Given the description of an element on the screen output the (x, y) to click on. 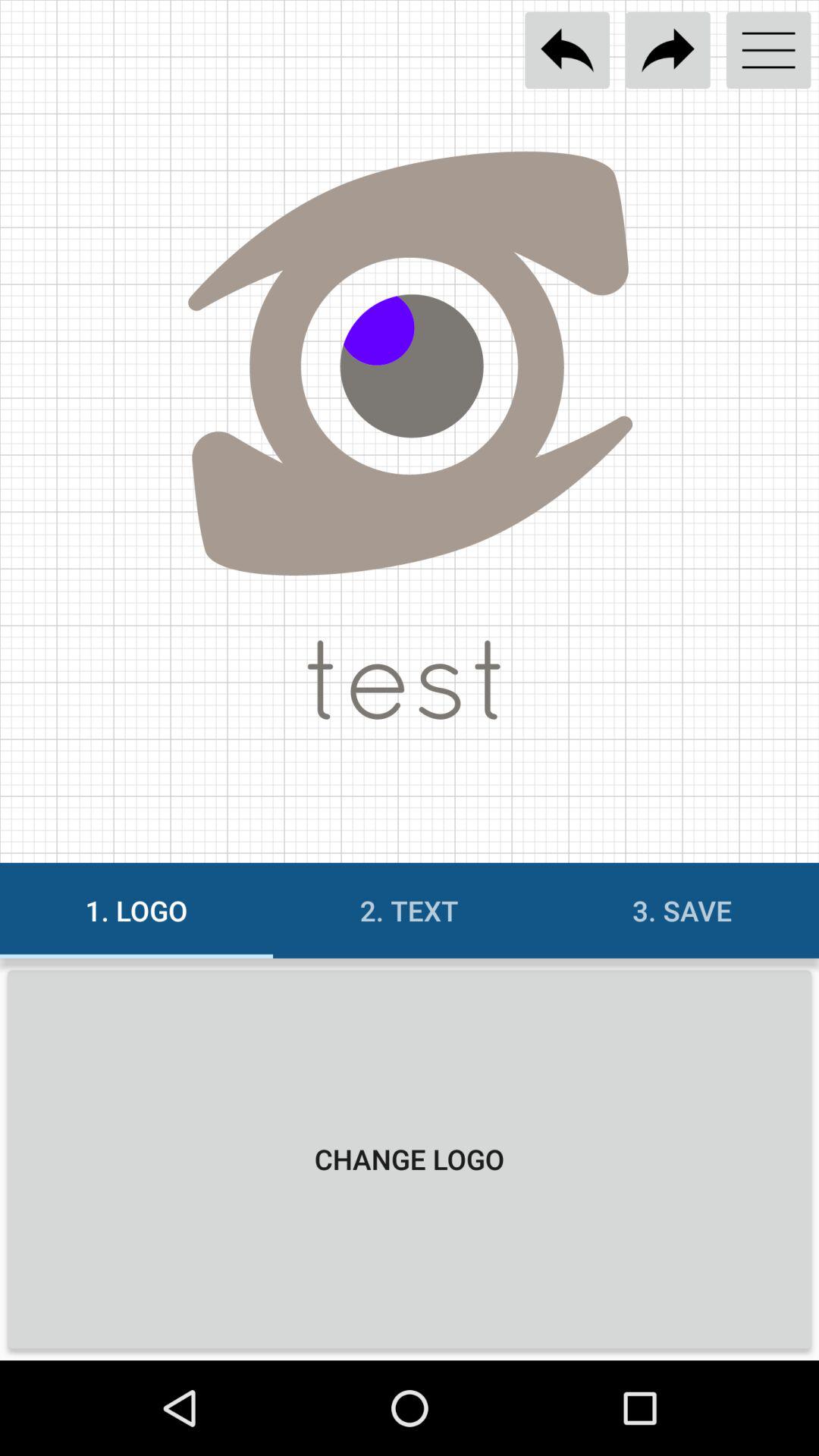
settings (768, 50)
